Given the description of an element on the screen output the (x, y) to click on. 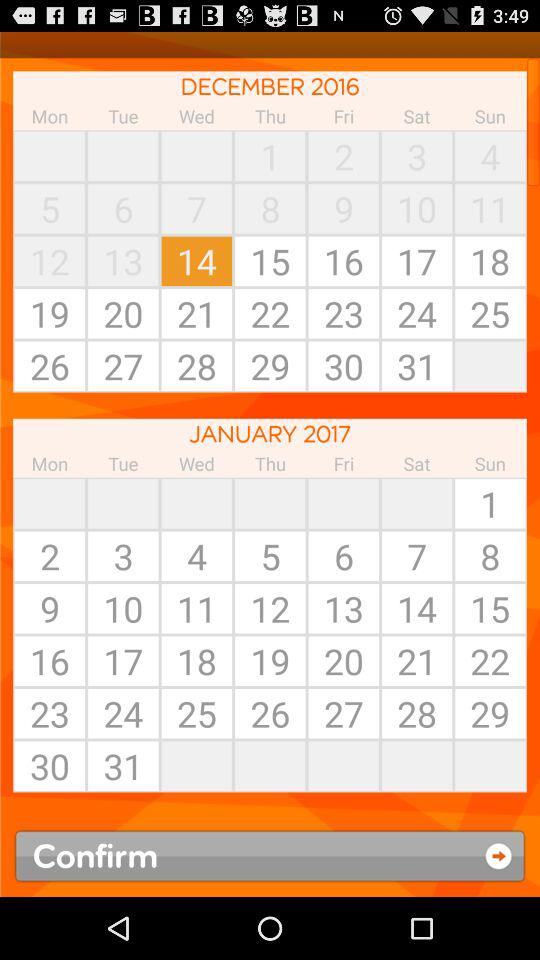
click the icon above 6 icon (417, 503)
